Given the description of an element on the screen output the (x, y) to click on. 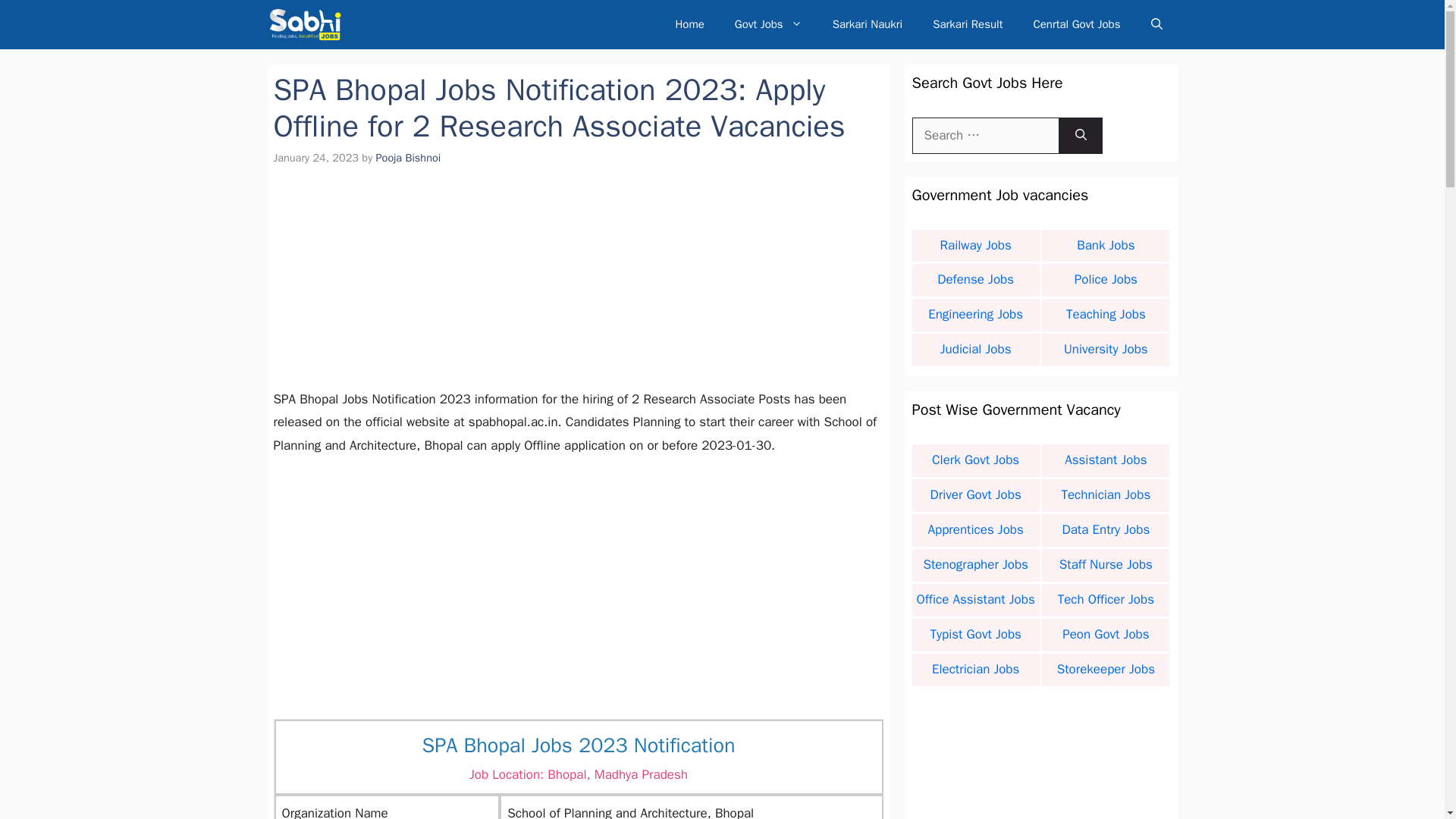
University Jobs (1105, 349)
Sarkari Result (967, 24)
Advertisement (577, 582)
Teaching Jobs (1105, 314)
Sarkari Naukri (867, 24)
Search for: (984, 135)
Bank Jobs (1105, 245)
Police Jobs (1105, 279)
Advertisement (1040, 757)
Engineering Jobs (975, 314)
Pooja Bishnoi (408, 157)
Cenrtal Govt Jobs (1076, 24)
Home (689, 24)
SabhiJobs.com (304, 24)
Judicial Jobs (975, 349)
